Given the description of an element on the screen output the (x, y) to click on. 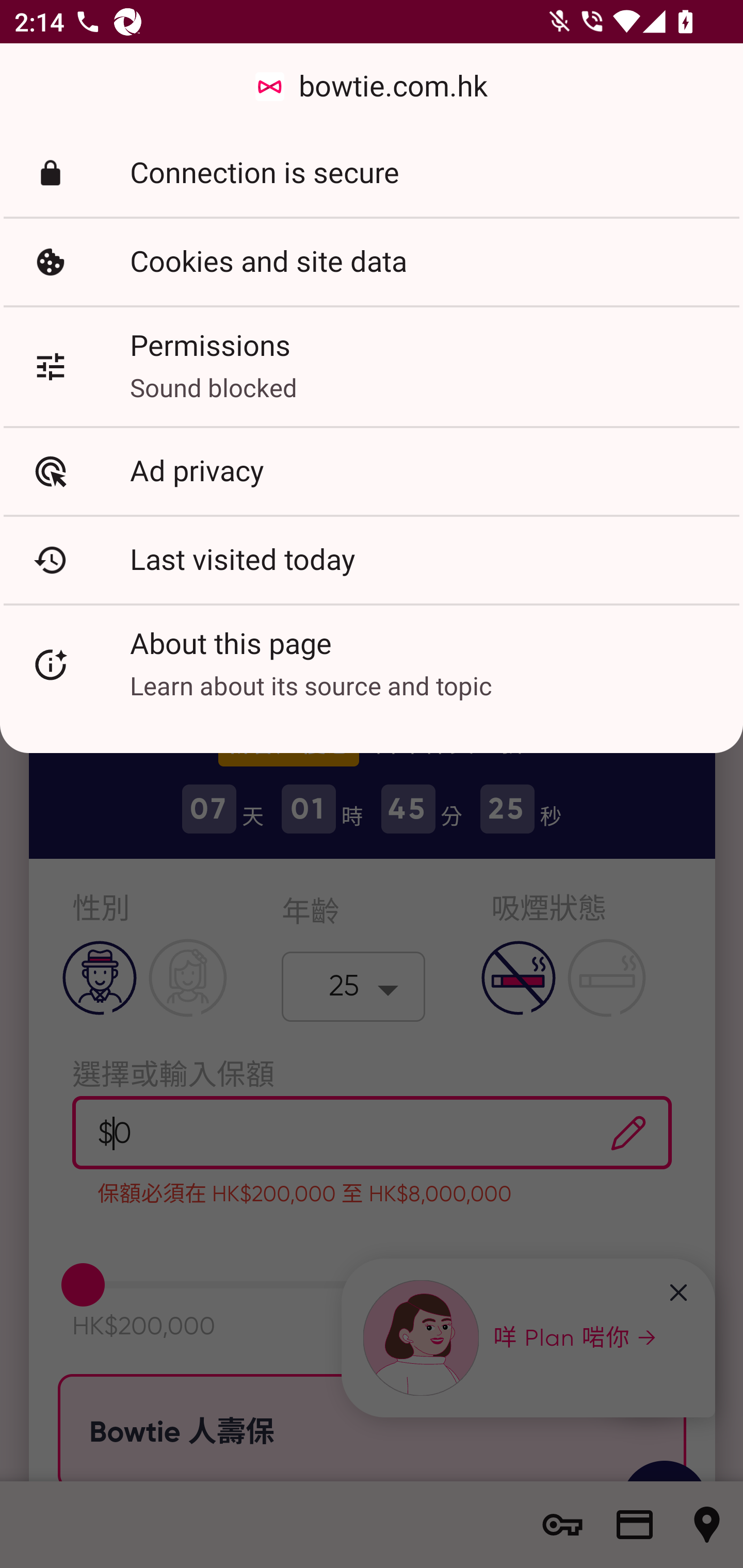
bowtie.com.hk (371, 86)
Connection is secure (371, 173)
Cookies and site data (371, 261)
Permissions Sound blocked (371, 366)
Ad privacy (371, 471)
Last visited today (371, 560)
About this page Learn about its source and topic (371, 664)
